Given the description of an element on the screen output the (x, y) to click on. 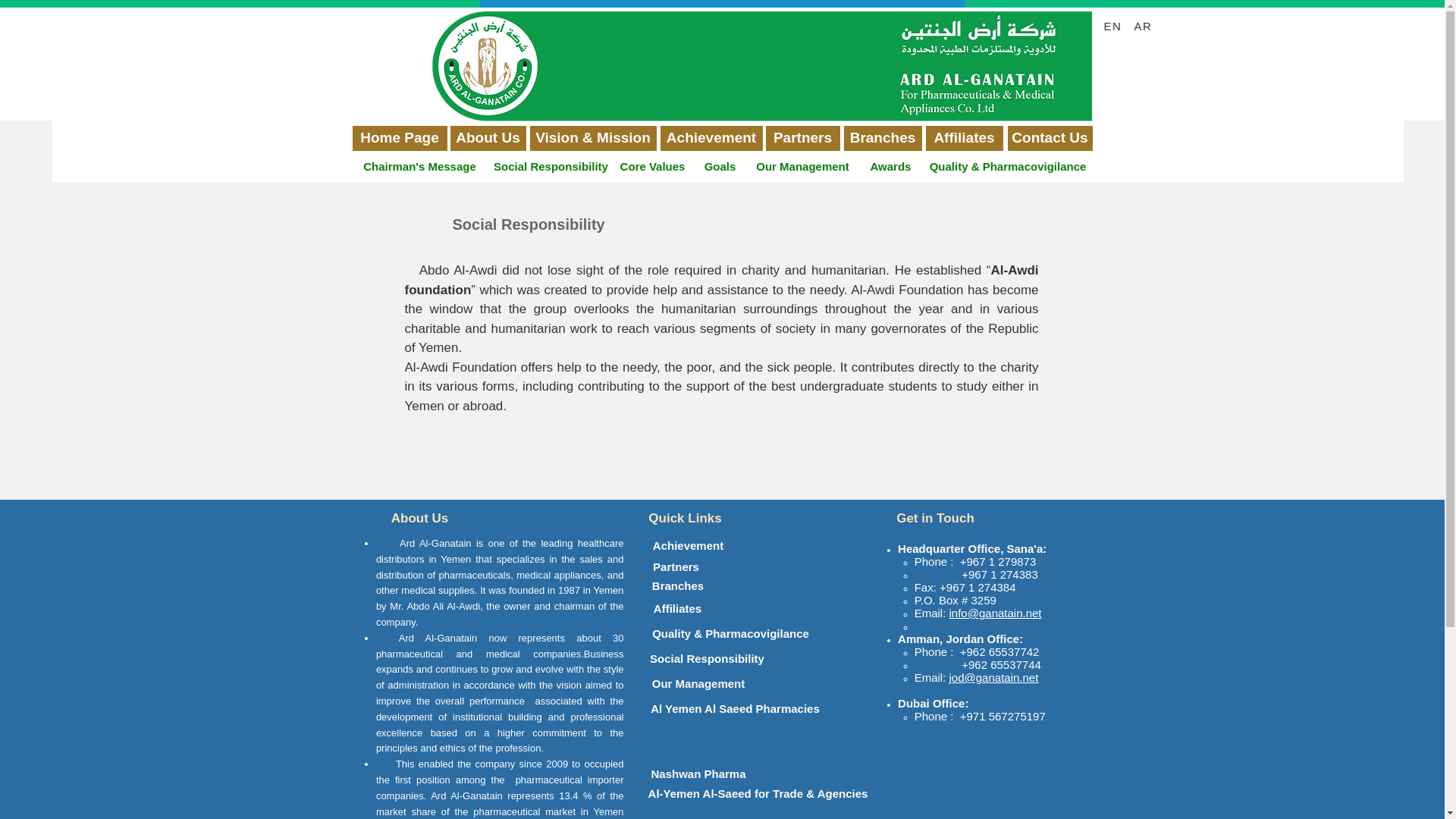
Contact Us (1049, 138)
Our Management (802, 166)
About Us (487, 138)
Awards (890, 166)
Social Responsibility (550, 166)
Chairman's Message (419, 166)
EN (1114, 25)
Branches (882, 138)
AR (1144, 25)
Home Page (399, 138)
